Given the description of an element on the screen output the (x, y) to click on. 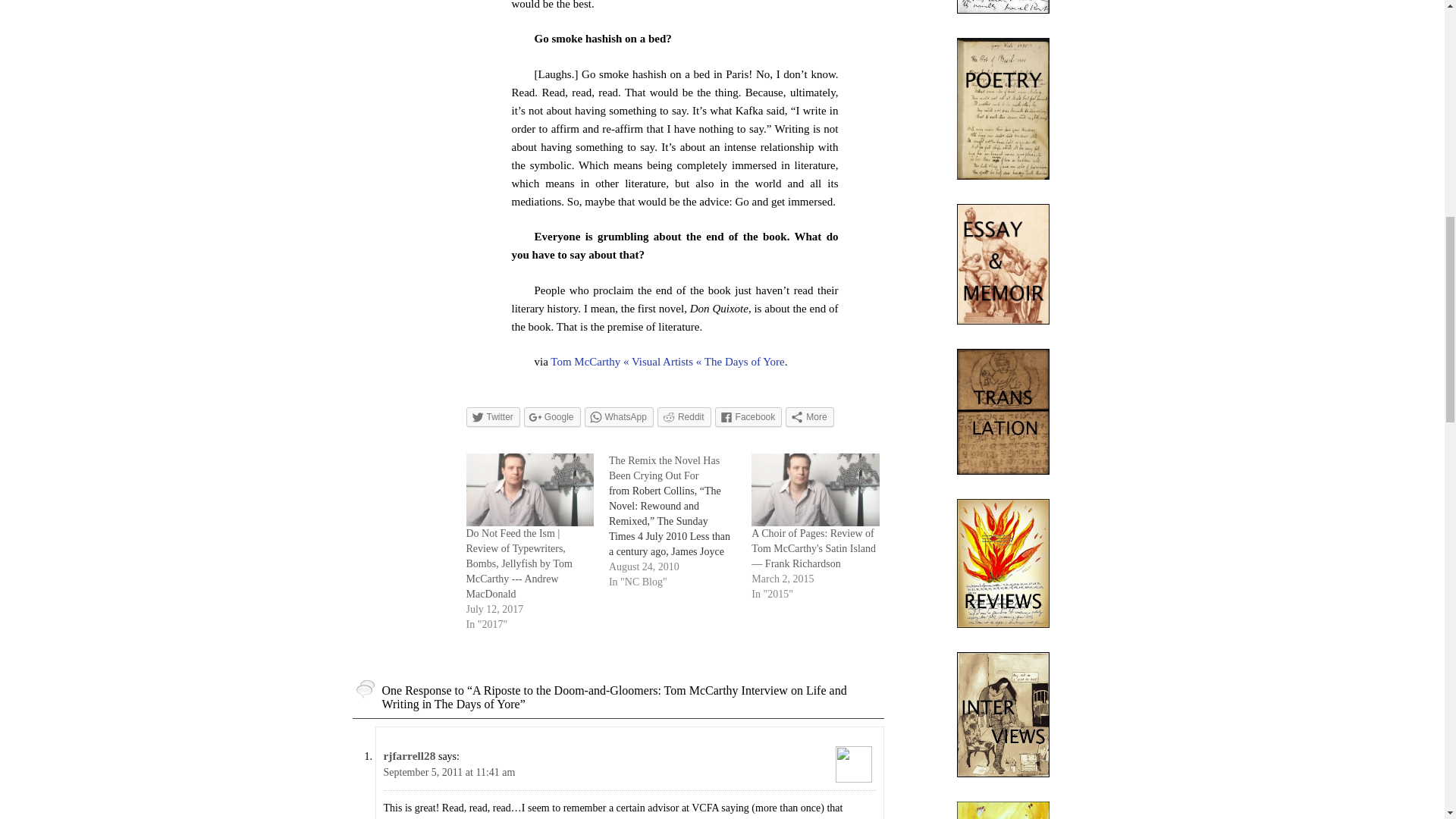
Click to share on WhatsApp (619, 416)
Click to share on Reddit (684, 416)
Click to share on Facebook (748, 416)
Click to share on Twitter (492, 416)
